Given the description of an element on the screen output the (x, y) to click on. 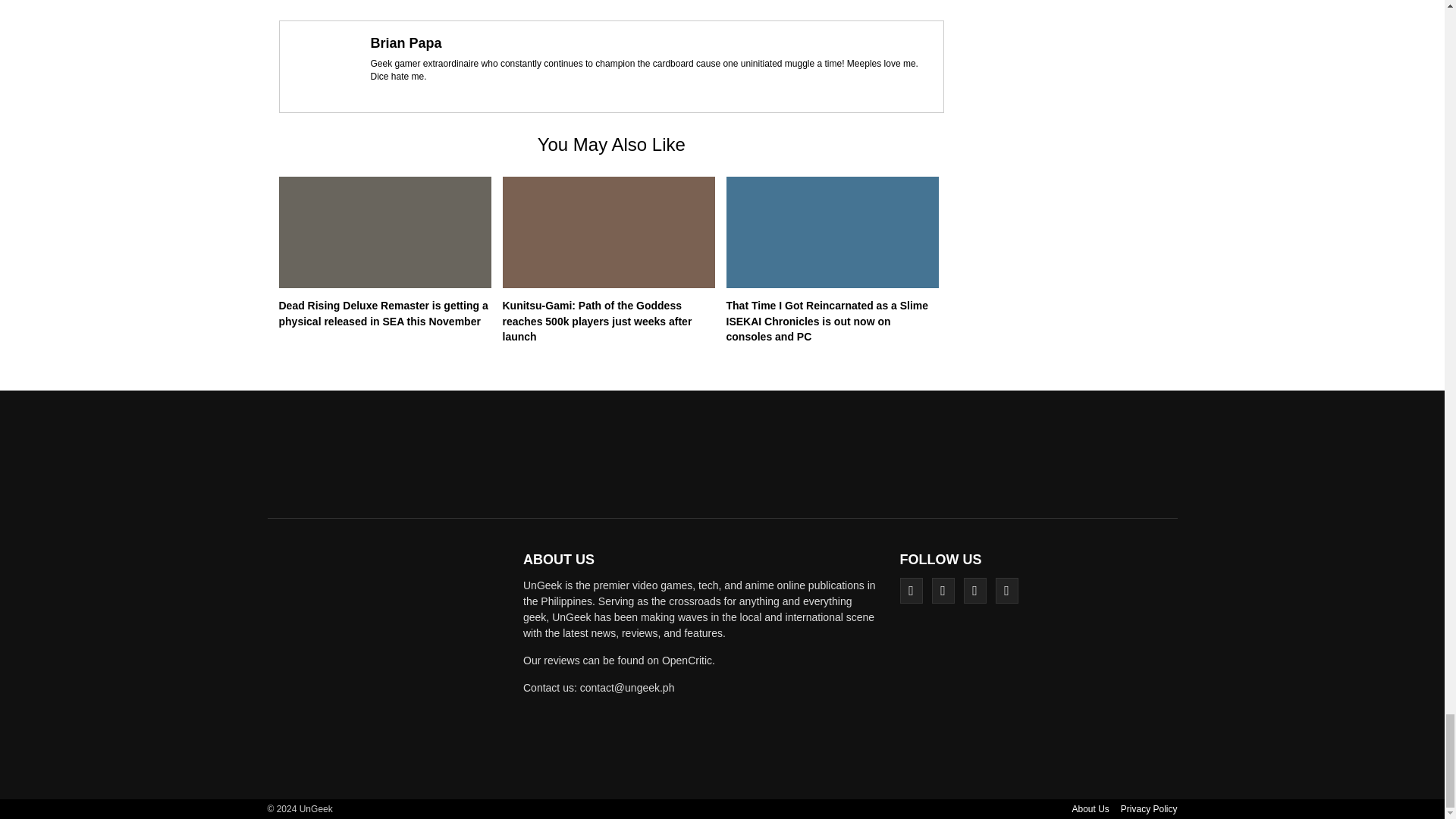
UnGeek (389, 663)
